Given the description of an element on the screen output the (x, y) to click on. 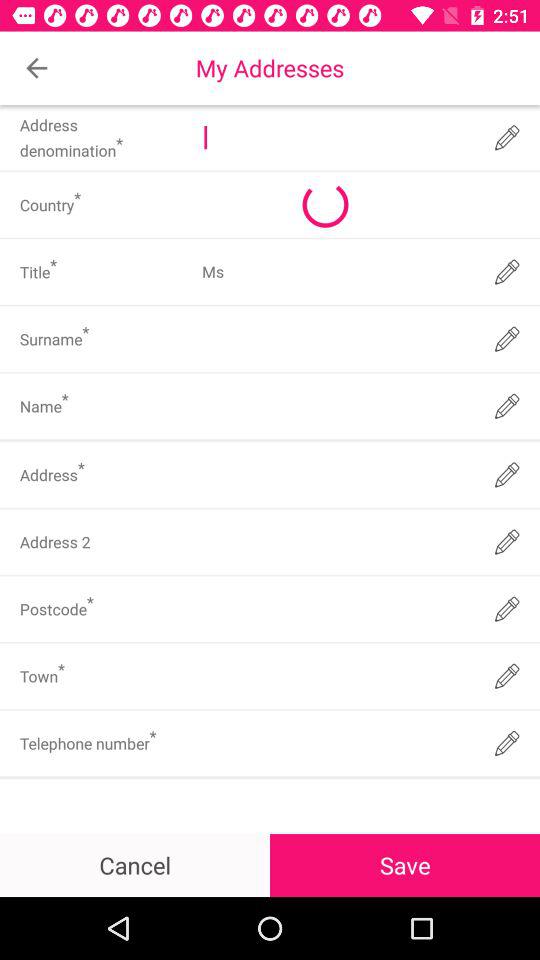
select a text field which is after name on a page (336, 406)
click on the pencil icon which is right hand side of postcode (507, 609)
select a text field which is after address denomination (336, 137)
click on the edit icon beside text the address 2 (507, 541)
